Given the description of an element on the screen output the (x, y) to click on. 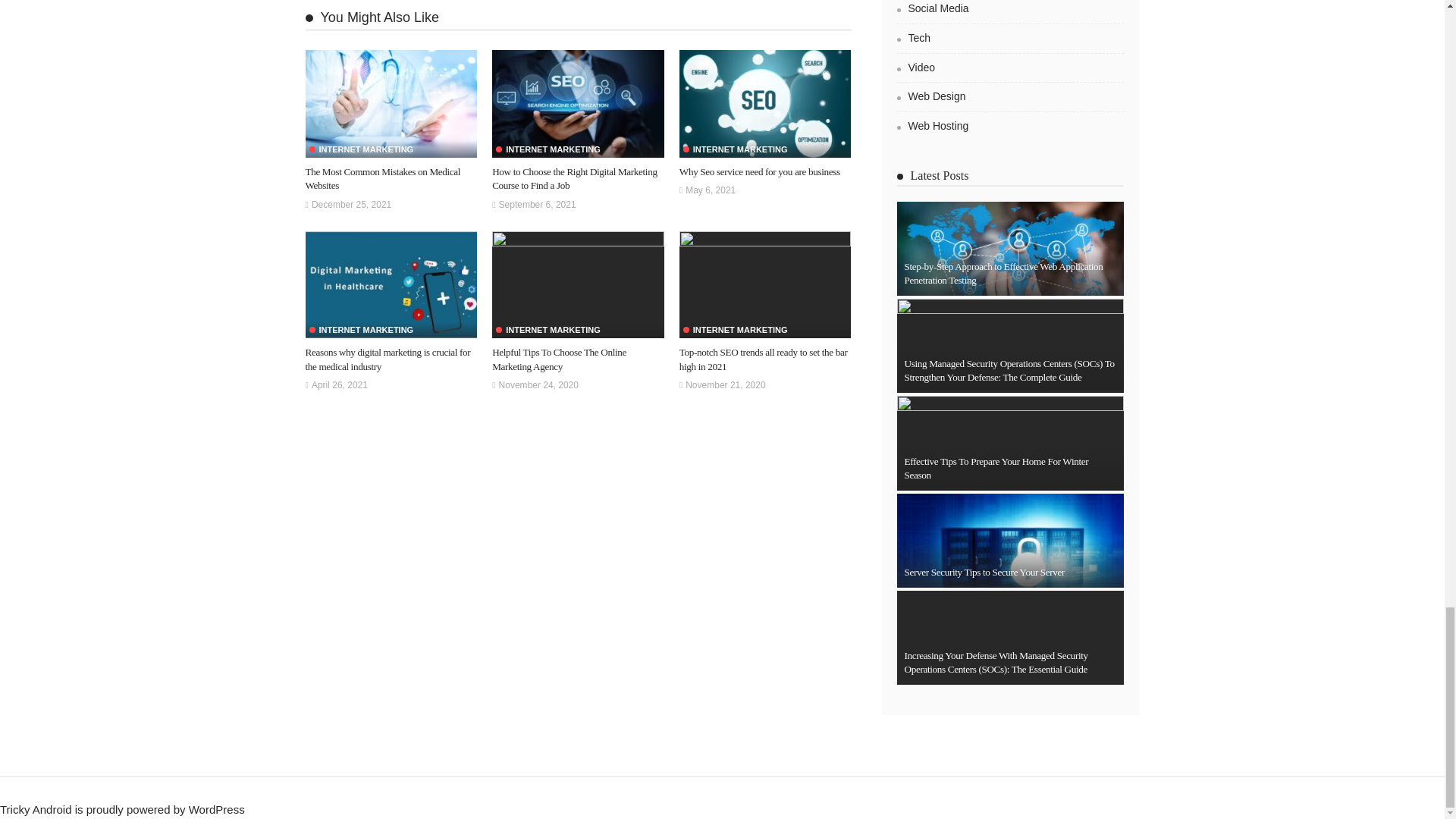
The Most Common Mistakes on Medical Websites (390, 103)
Internet Marketing (360, 149)
